Given the description of an element on the screen output the (x, y) to click on. 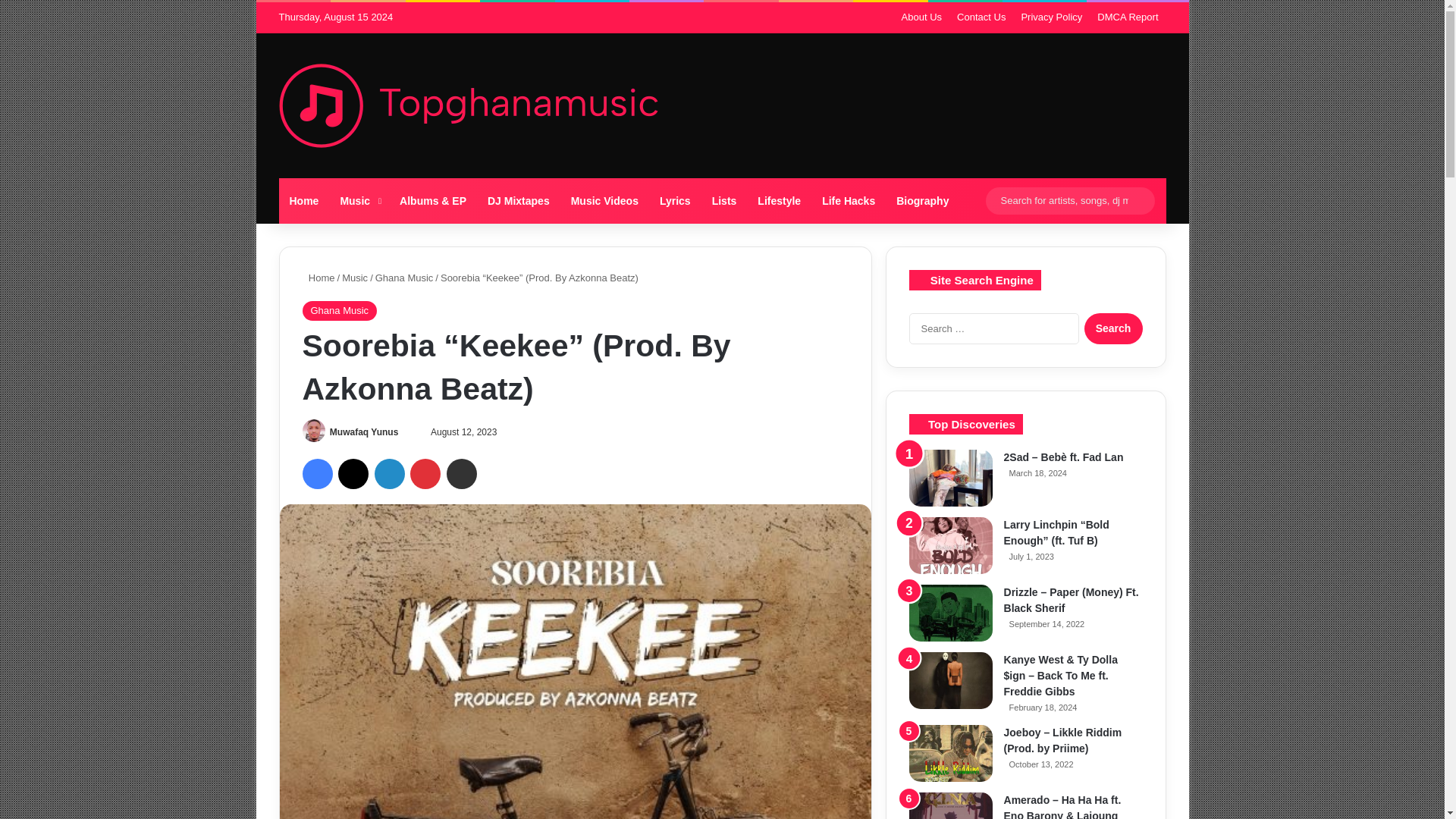
Ghana Music (404, 277)
Search (1113, 327)
Music (355, 277)
Muwafaq Yunus (363, 431)
X (352, 473)
Lifestyle (778, 200)
Music (358, 200)
LinkedIn (389, 473)
Home (317, 277)
Search for artists, songs, dj mixtapes etc... (1069, 200)
